Given the description of an element on the screen output the (x, y) to click on. 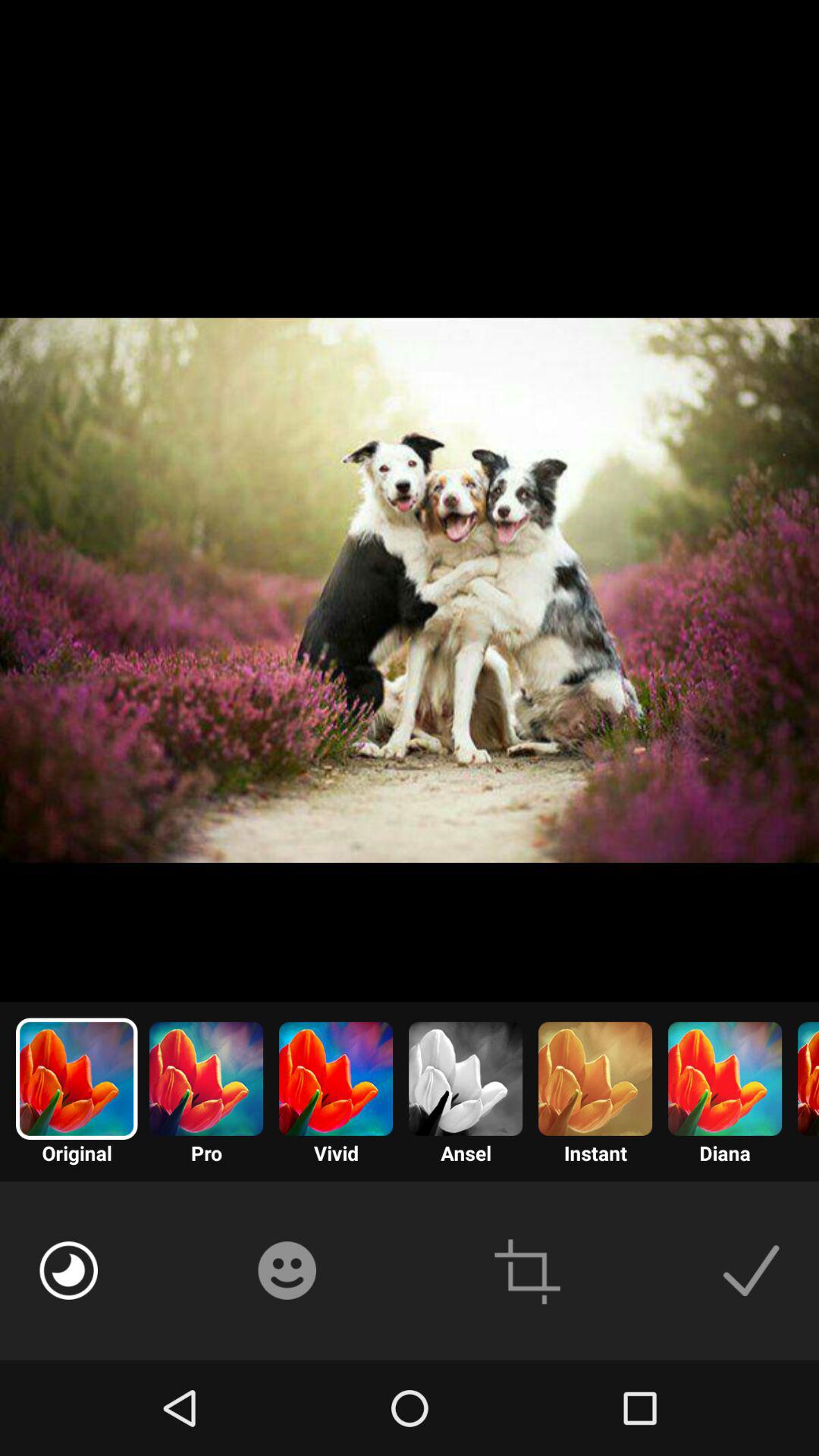
crop image option (527, 1270)
